Given the description of an element on the screen output the (x, y) to click on. 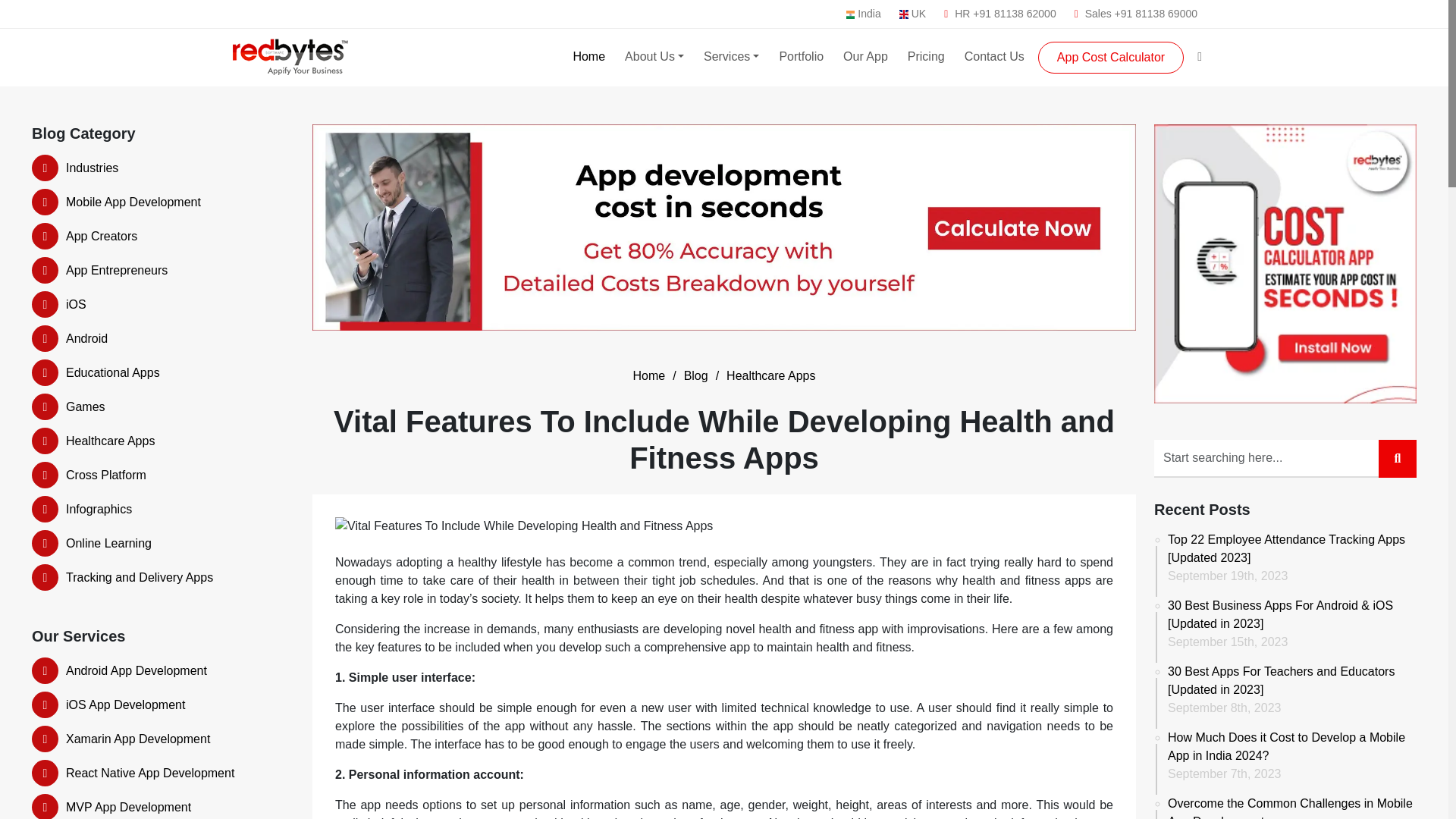
UK (912, 13)
Portfolio (801, 56)
Contact Us (994, 56)
App Cost Calculator (1110, 57)
About Us (654, 56)
Services (731, 56)
India (862, 13)
Pricing (925, 56)
Home (588, 56)
Our App (865, 56)
